Given the description of an element on the screen output the (x, y) to click on. 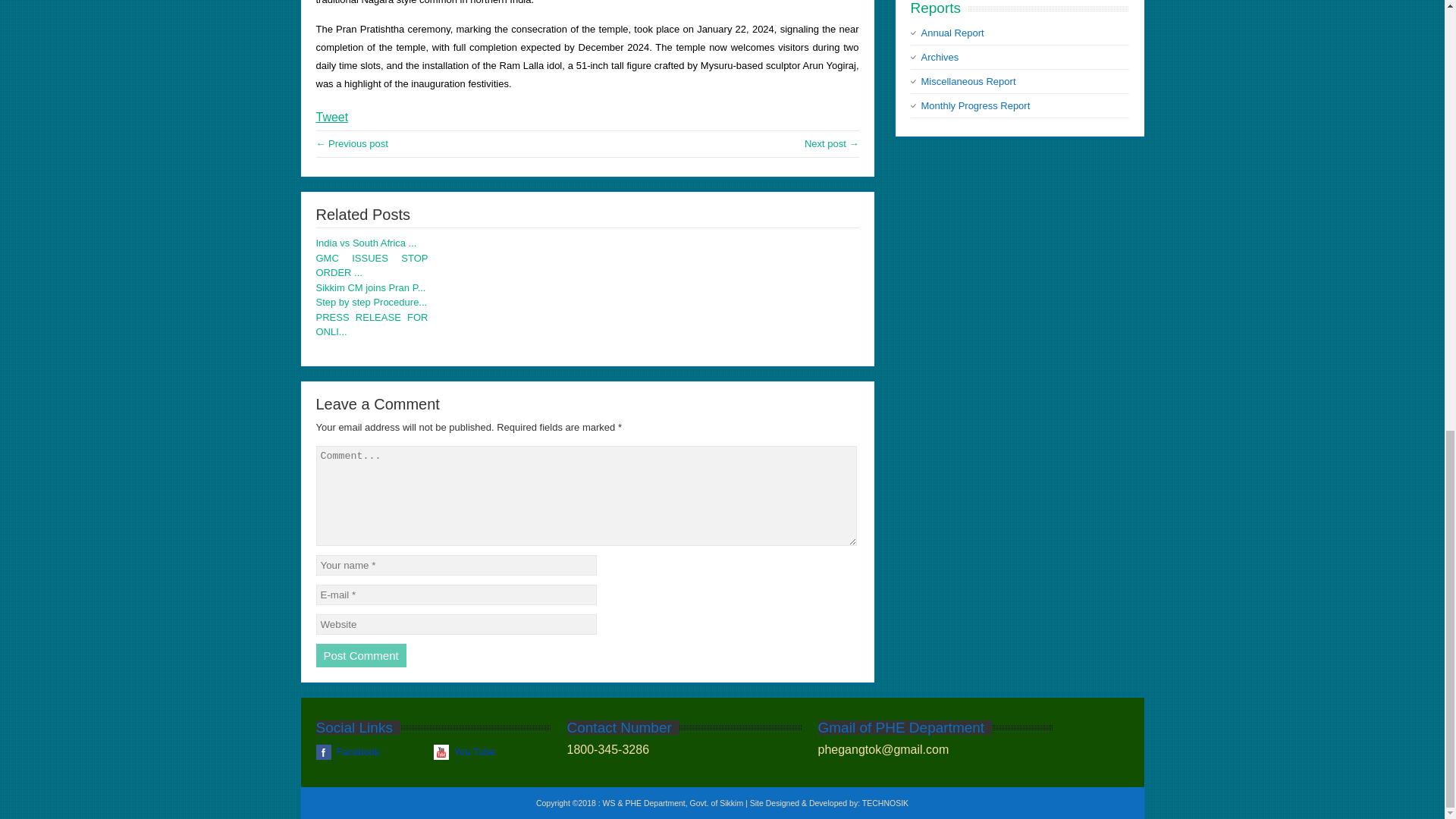
Step by step Procedure for Online Payment (351, 143)
Step by step Procedure for Online Payment (371, 302)
GMC ISSUES STOP ORDER ON STAR MALL PROJECT (371, 265)
Post Comment (360, 655)
